Given the description of an element on the screen output the (x, y) to click on. 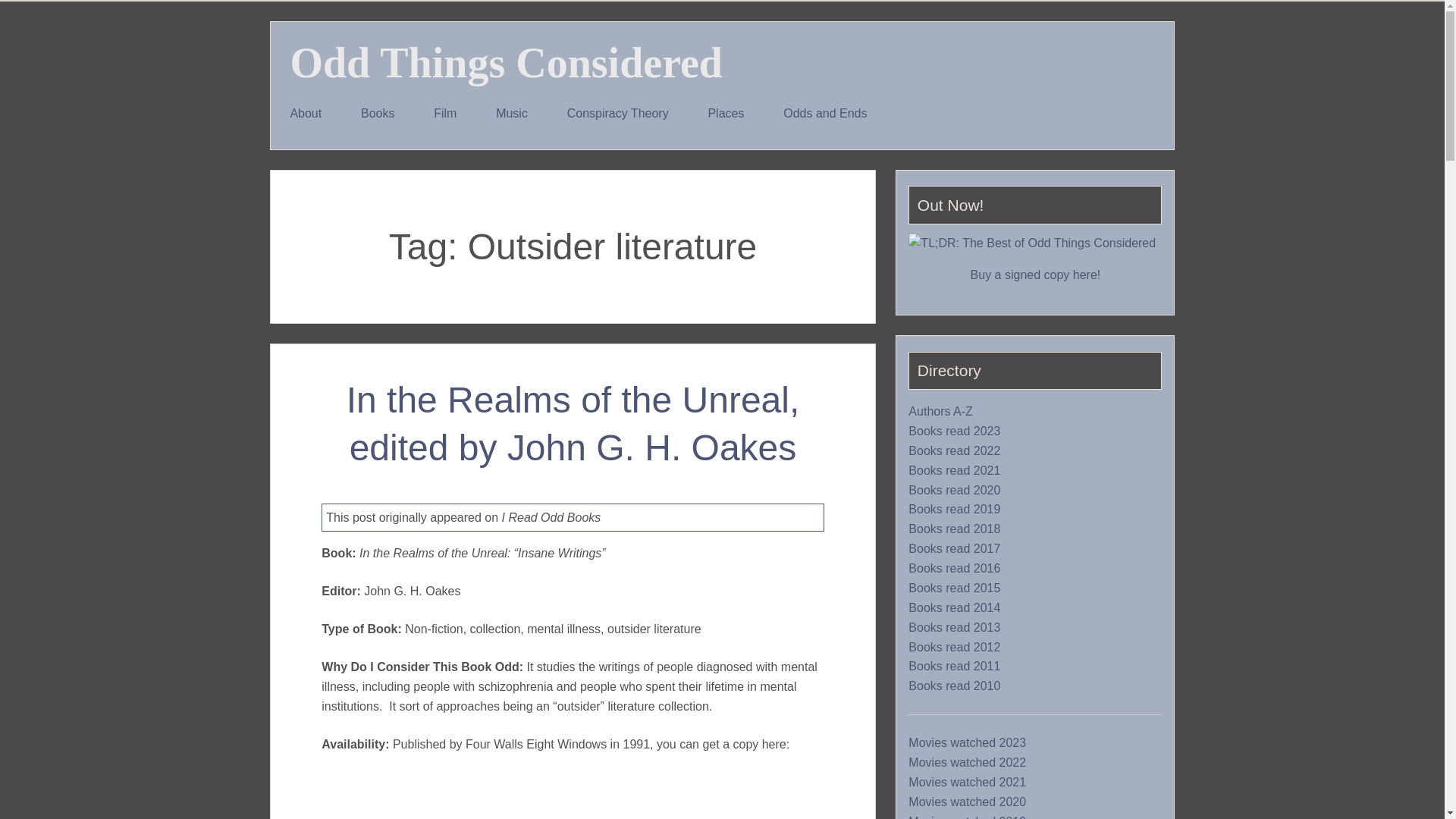
Books (376, 114)
Odd Things Considered (505, 62)
Books read 2018 (954, 529)
Books read 2012 (954, 647)
Odds and Ends (824, 114)
Places (726, 114)
Books read 2023 (954, 431)
Books read 2019 (954, 509)
Authors A-Z (940, 411)
Books read 2017 (954, 549)
About (306, 114)
Books read 2022 (954, 450)
Books read 2015 (954, 588)
Buy a signed copy here! (1035, 274)
Books read 2020 (954, 490)
